Given the description of an element on the screen output the (x, y) to click on. 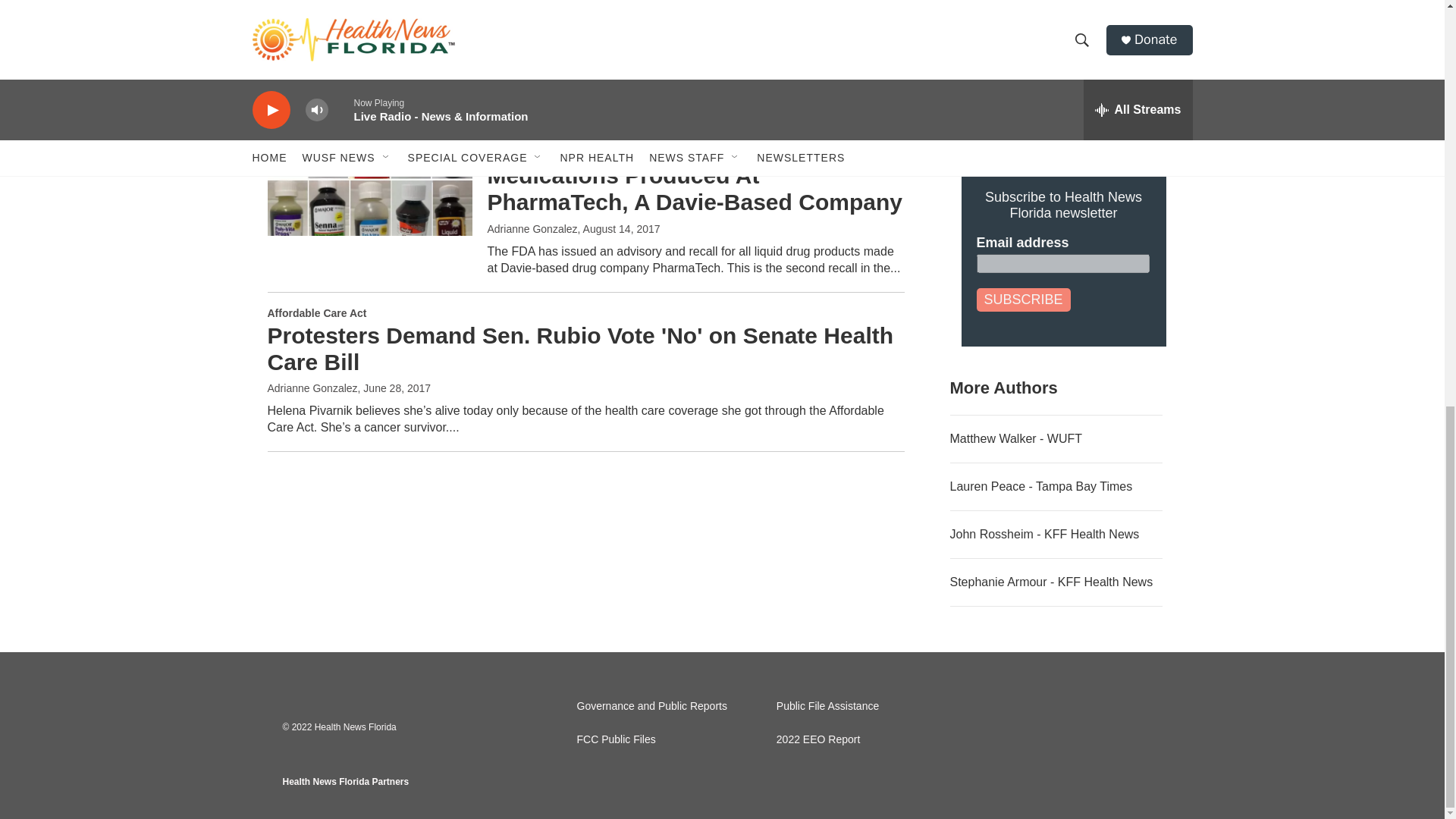
3rd party ad content (1062, 22)
